Given the description of an element on the screen output the (x, y) to click on. 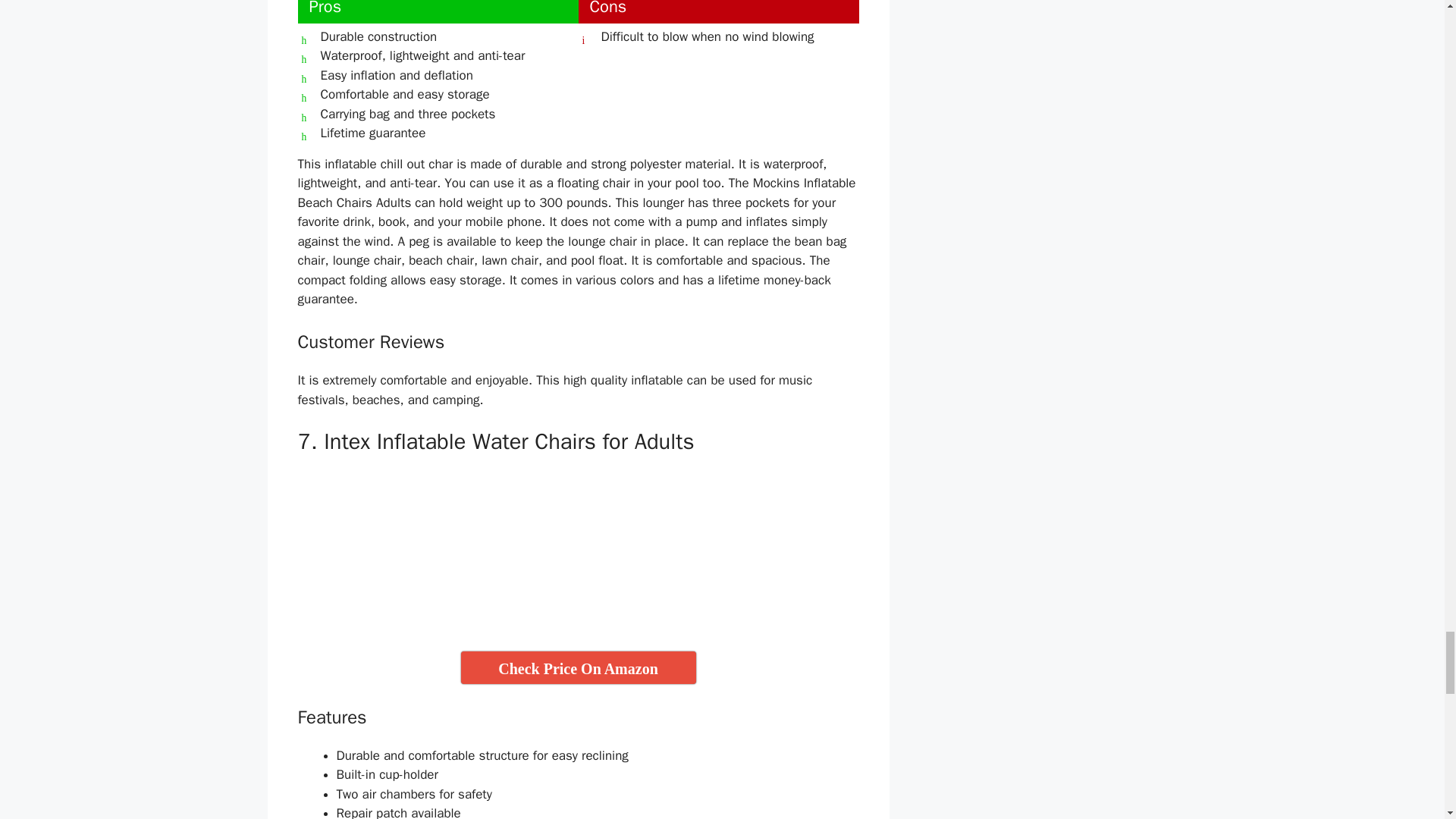
Check Price On Amazon (578, 667)
